Given the description of an element on the screen output the (x, y) to click on. 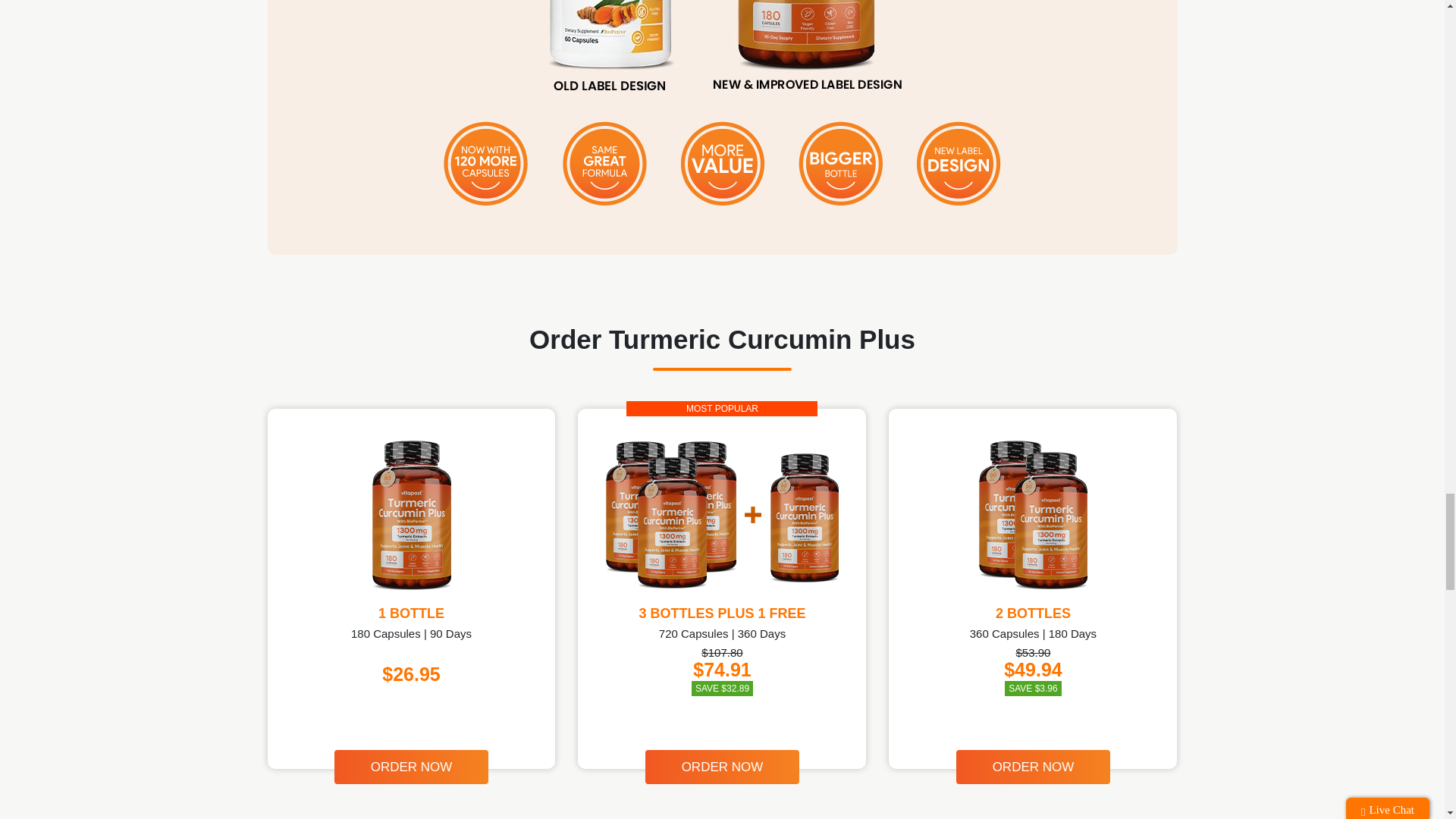
ORDER NOW (722, 766)
ORDER NOW (1033, 766)
3 Bottles Plus 1 Free (721, 514)
ORDER NOW (411, 766)
